Given the description of an element on the screen output the (x, y) to click on. 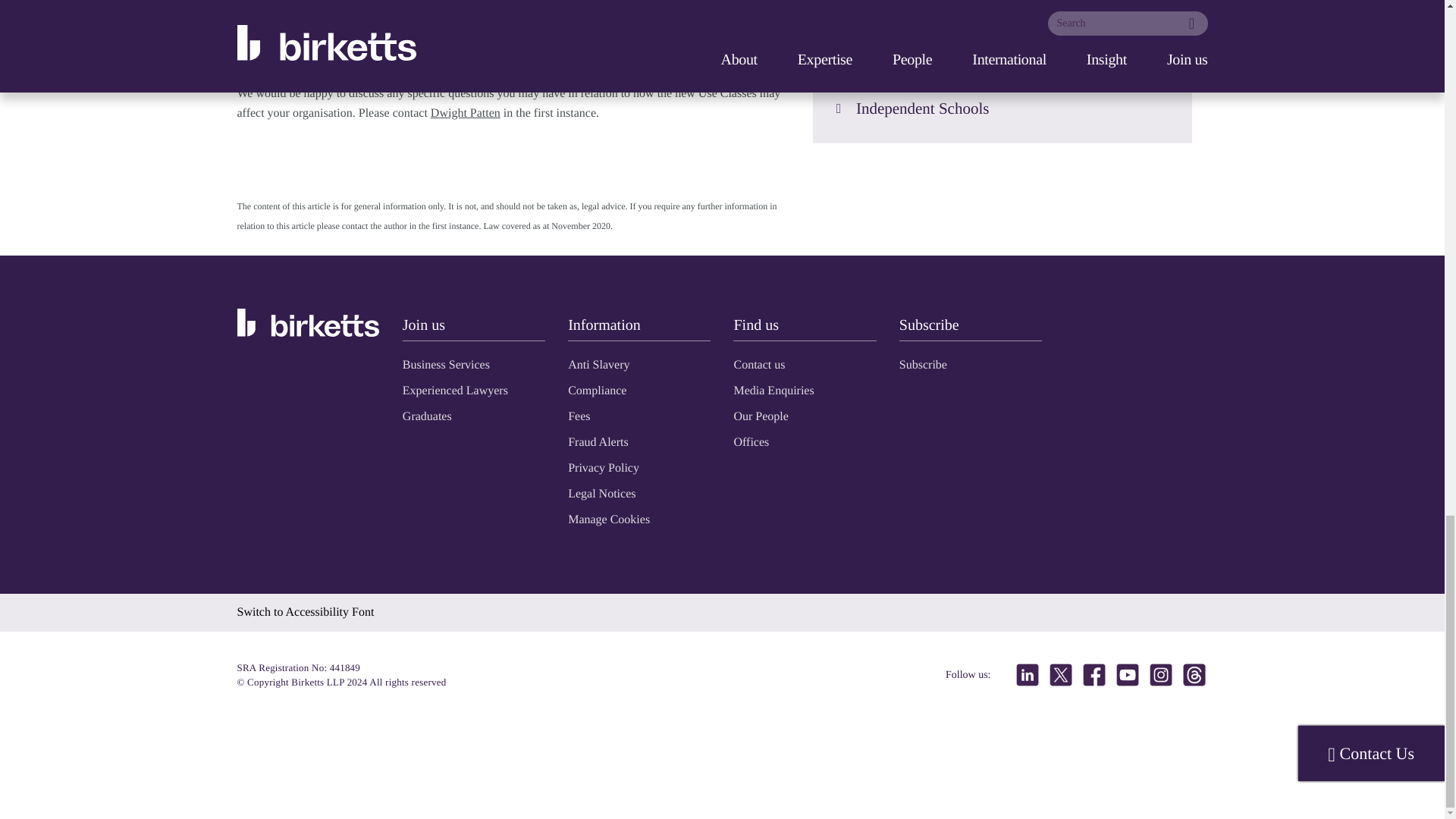
Switch to Dyslexic friendly appearance (304, 611)
Fees (578, 415)
Business Services (446, 364)
Fraud Alerts (597, 440)
Graduates (427, 415)
Contact us (758, 364)
Experienced Lawyers (455, 390)
Our People (760, 415)
Subscribe (923, 364)
Privacy Policy (603, 467)
